Given the description of an element on the screen output the (x, y) to click on. 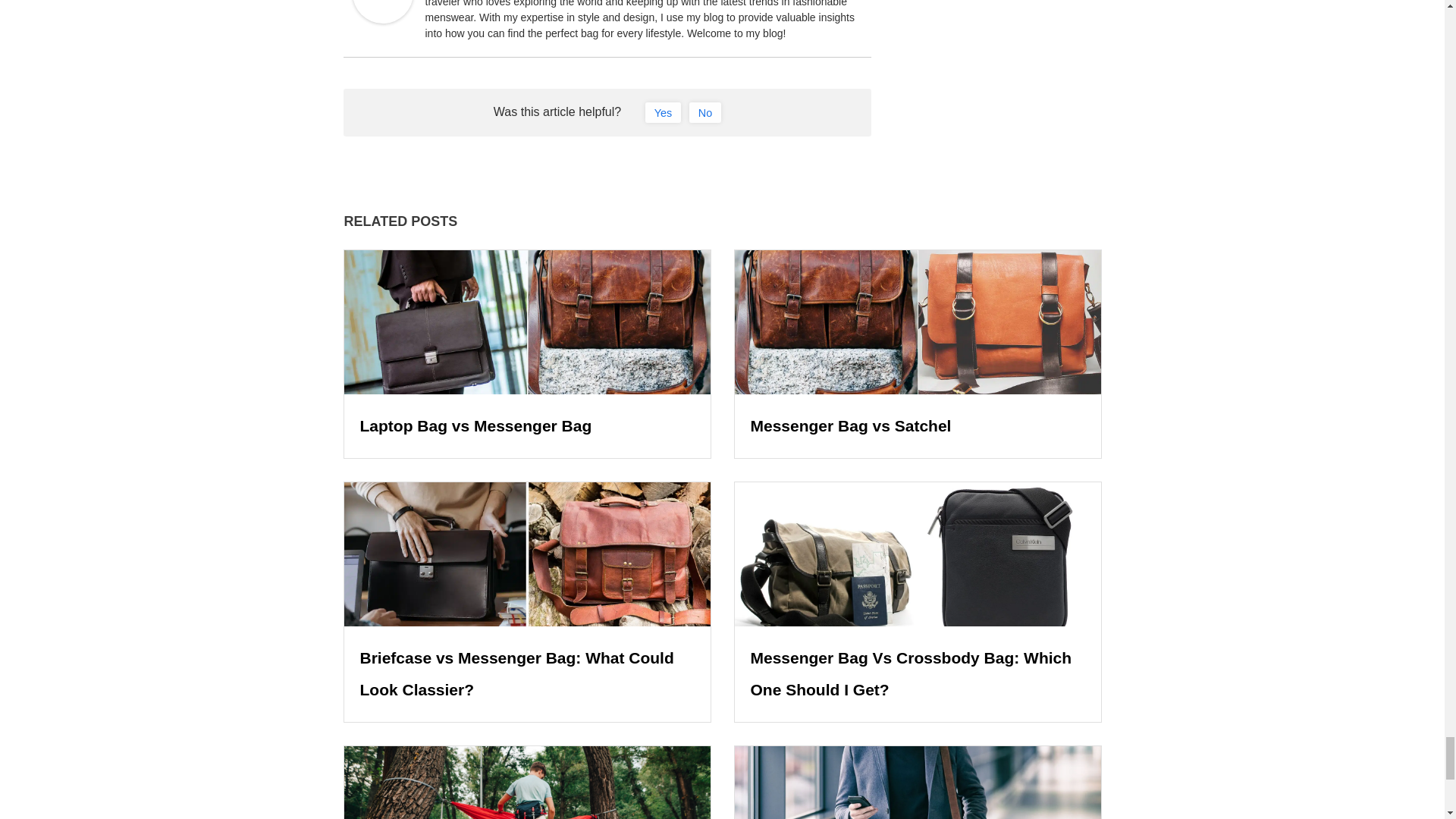
Briefcase vs Messenger Bag: What Could Look Classier? (515, 673)
Messenger Bag Vs Crossbody Bag: Which One Should I Get? (911, 673)
Messenger Bag vs Satchel (851, 425)
Laptop Bag vs Messenger Bag (475, 425)
